Given the description of an element on the screen output the (x, y) to click on. 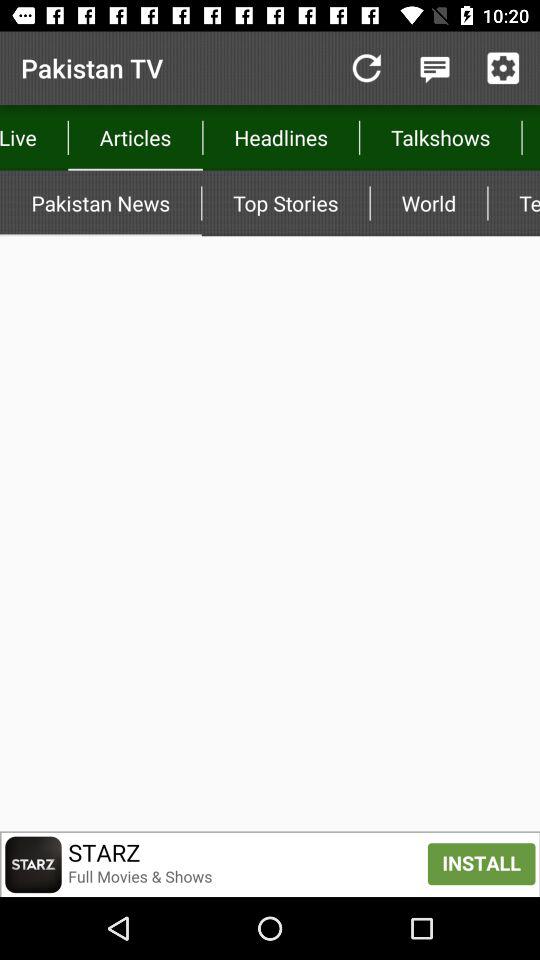
open advertisement (270, 864)
